Given the description of an element on the screen output the (x, y) to click on. 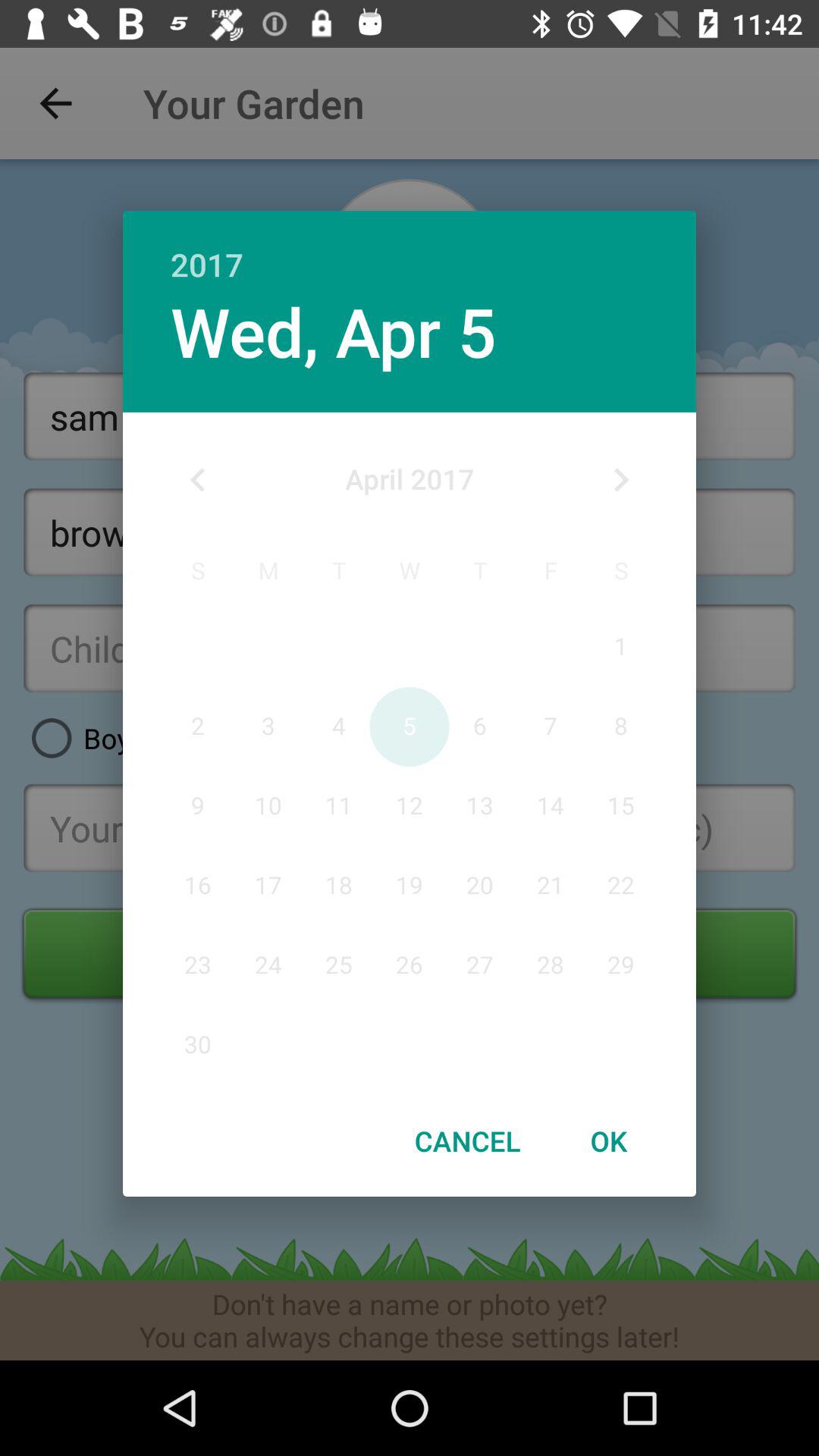
swipe to the 2017 (409, 248)
